Given the description of an element on the screen output the (x, y) to click on. 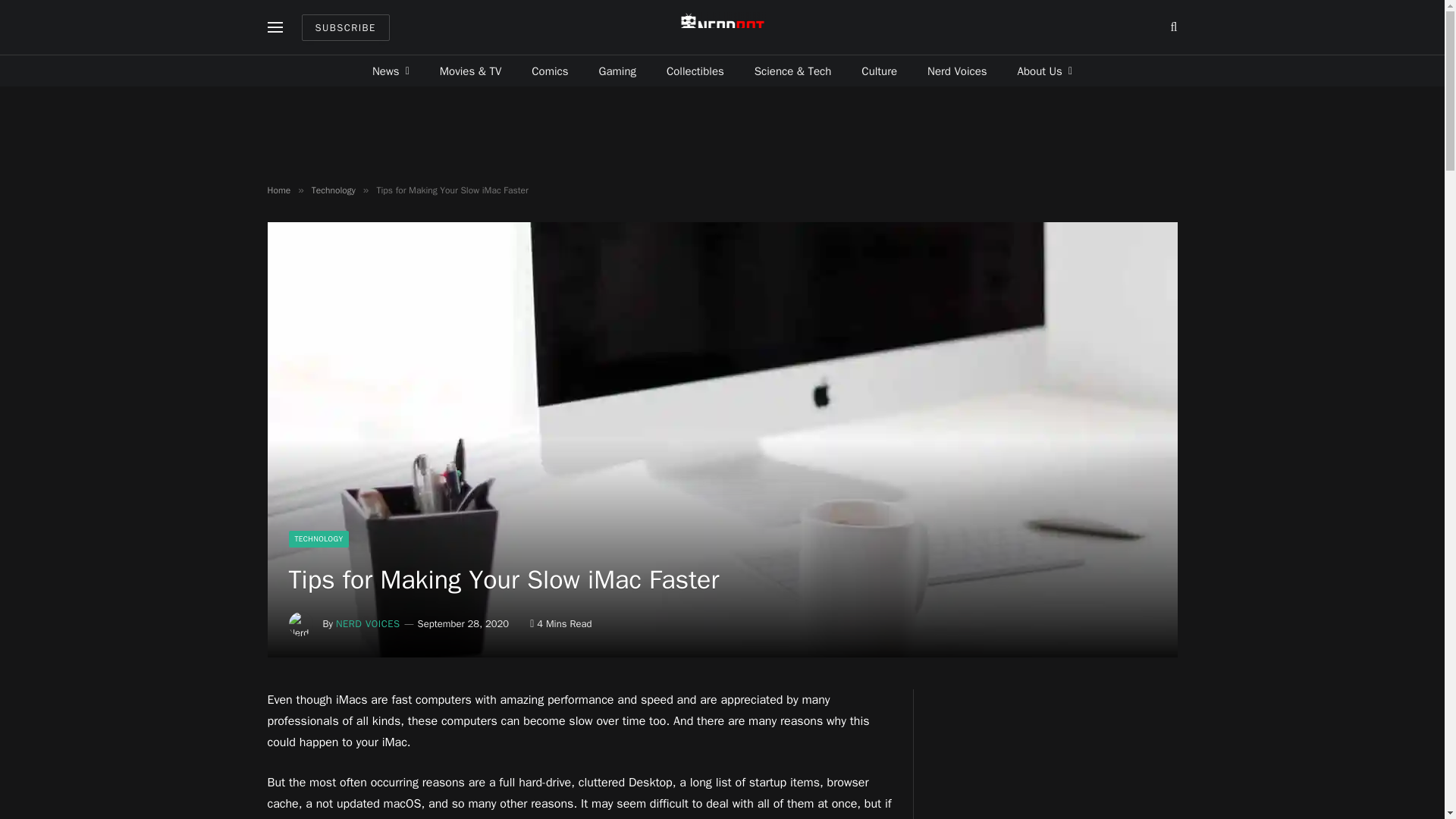
Nerd Voices (957, 70)
Gaming (616, 70)
SUBSCRIBE (345, 26)
Technology (333, 190)
NERDBOT (722, 26)
Posts by Nerd Voices (368, 623)
Comics (549, 70)
About Us (1045, 70)
NERD VOICES (368, 623)
TECHNOLOGY (318, 538)
Home (277, 190)
Culture (878, 70)
Collectibles (694, 70)
News (390, 70)
